Given the description of an element on the screen output the (x, y) to click on. 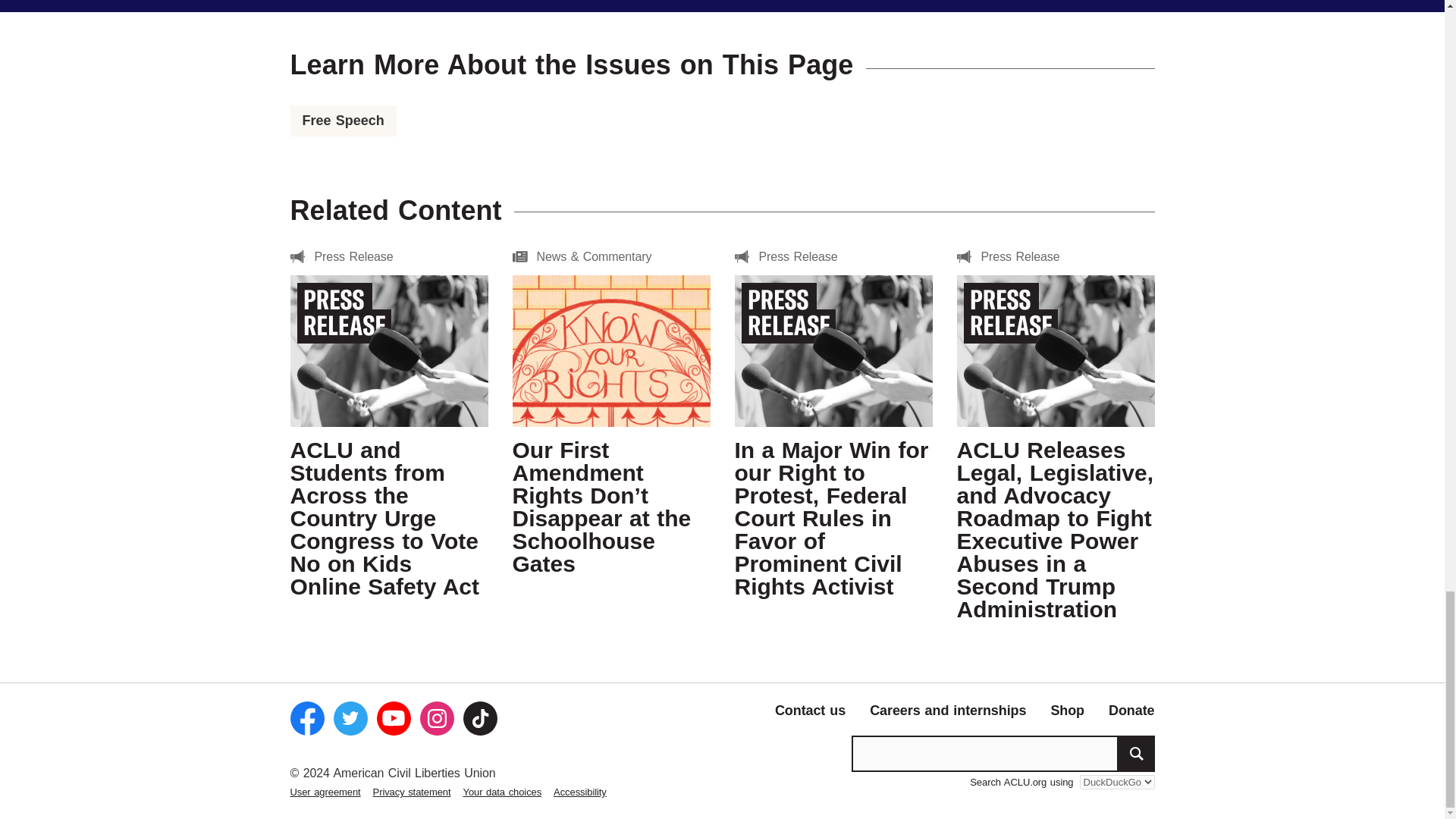
search (1136, 753)
Follow the ACLU on YouTube (392, 718)
Follow the ACLU on Twitter (350, 718)
Follow the ACLU on Facebook (306, 718)
Follow the ACLU on Instagram (437, 718)
Follow the ACLU on TikTok (479, 718)
